Given the description of an element on the screen output the (x, y) to click on. 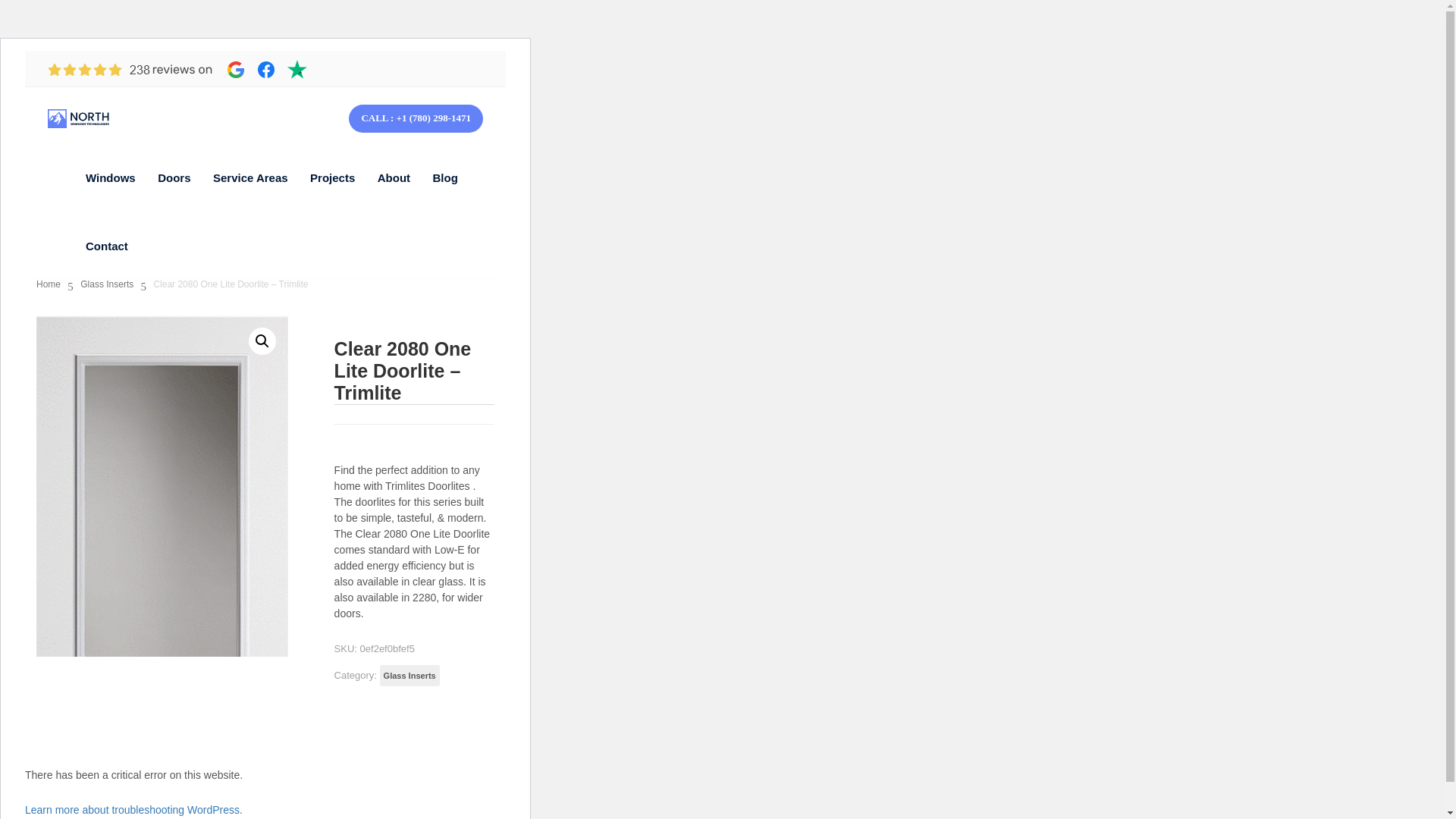
Service Areas (250, 178)
